Given the description of an element on the screen output the (x, y) to click on. 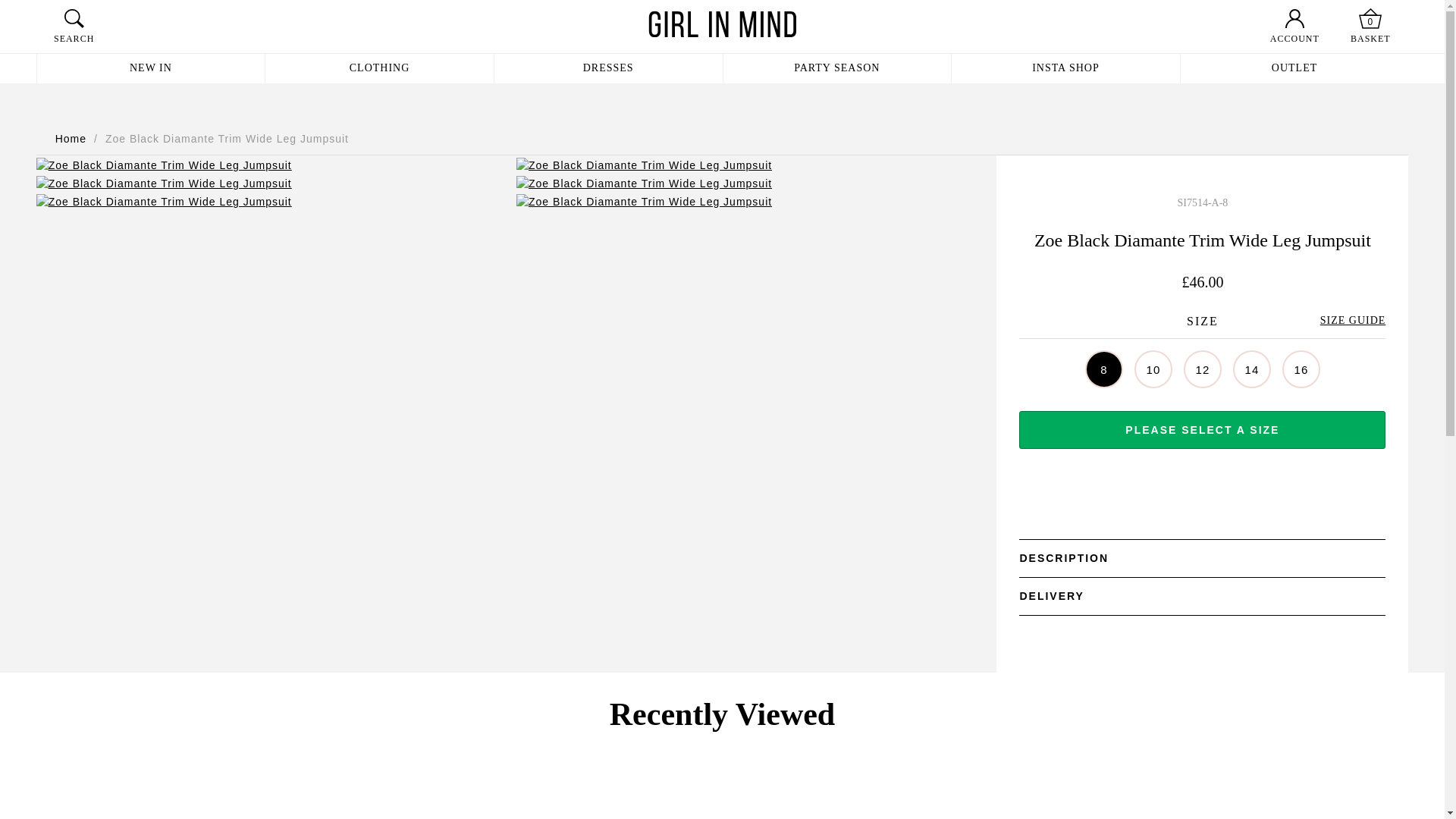
OUTLET (1294, 69)
CLOTHING (378, 69)
DRESSES (608, 69)
NEW IN (150, 69)
PLEASE SELECT A SIZE (1202, 429)
ACCOUNT (1294, 38)
Home (70, 139)
Home (70, 139)
BASKET (1370, 38)
SIZE GUIDE (1353, 320)
